Given the description of an element on the screen output the (x, y) to click on. 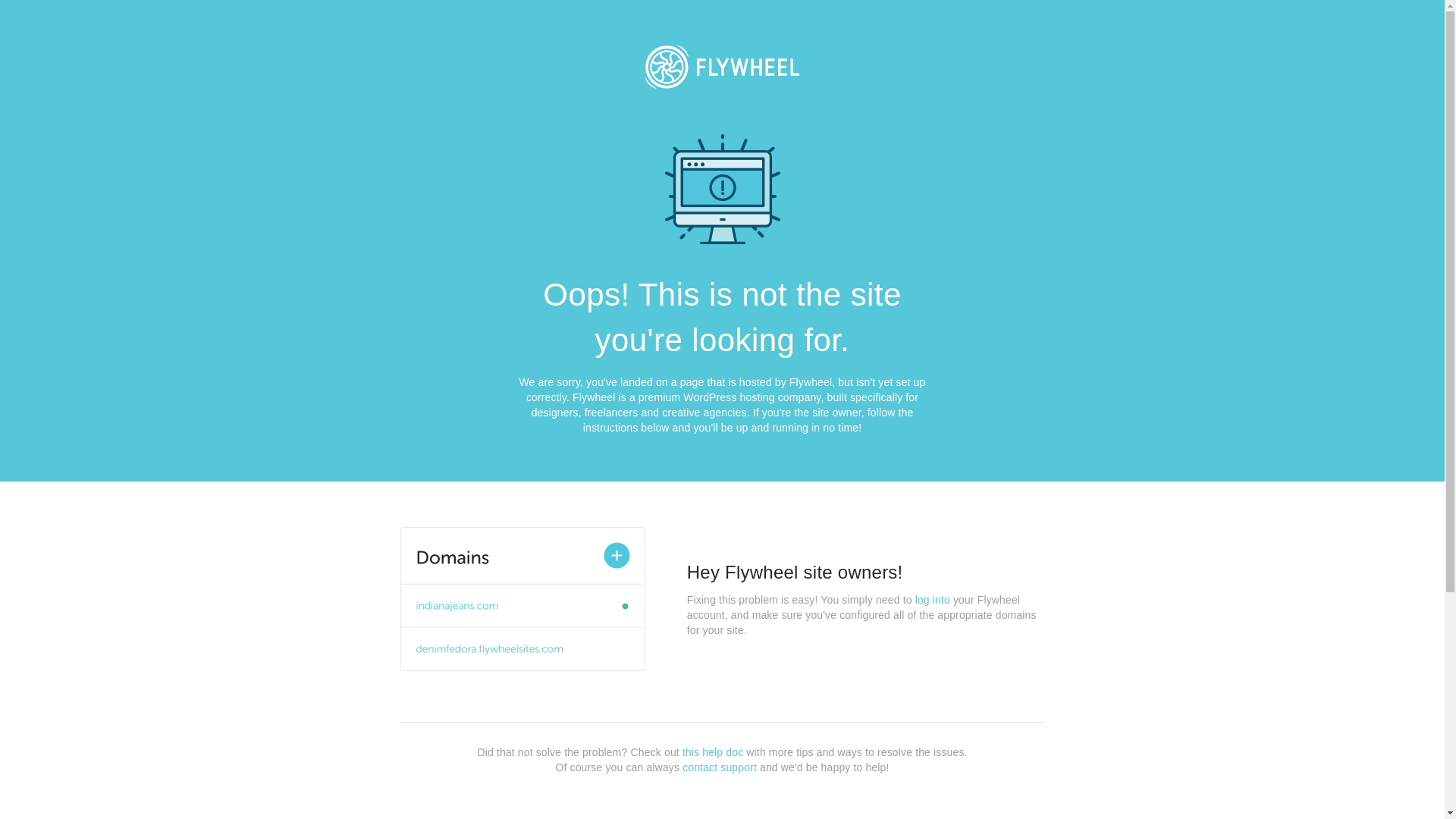
this help doc Element type: text (712, 752)
contact support Element type: text (719, 767)
log into Element type: text (932, 599)
